Given the description of an element on the screen output the (x, y) to click on. 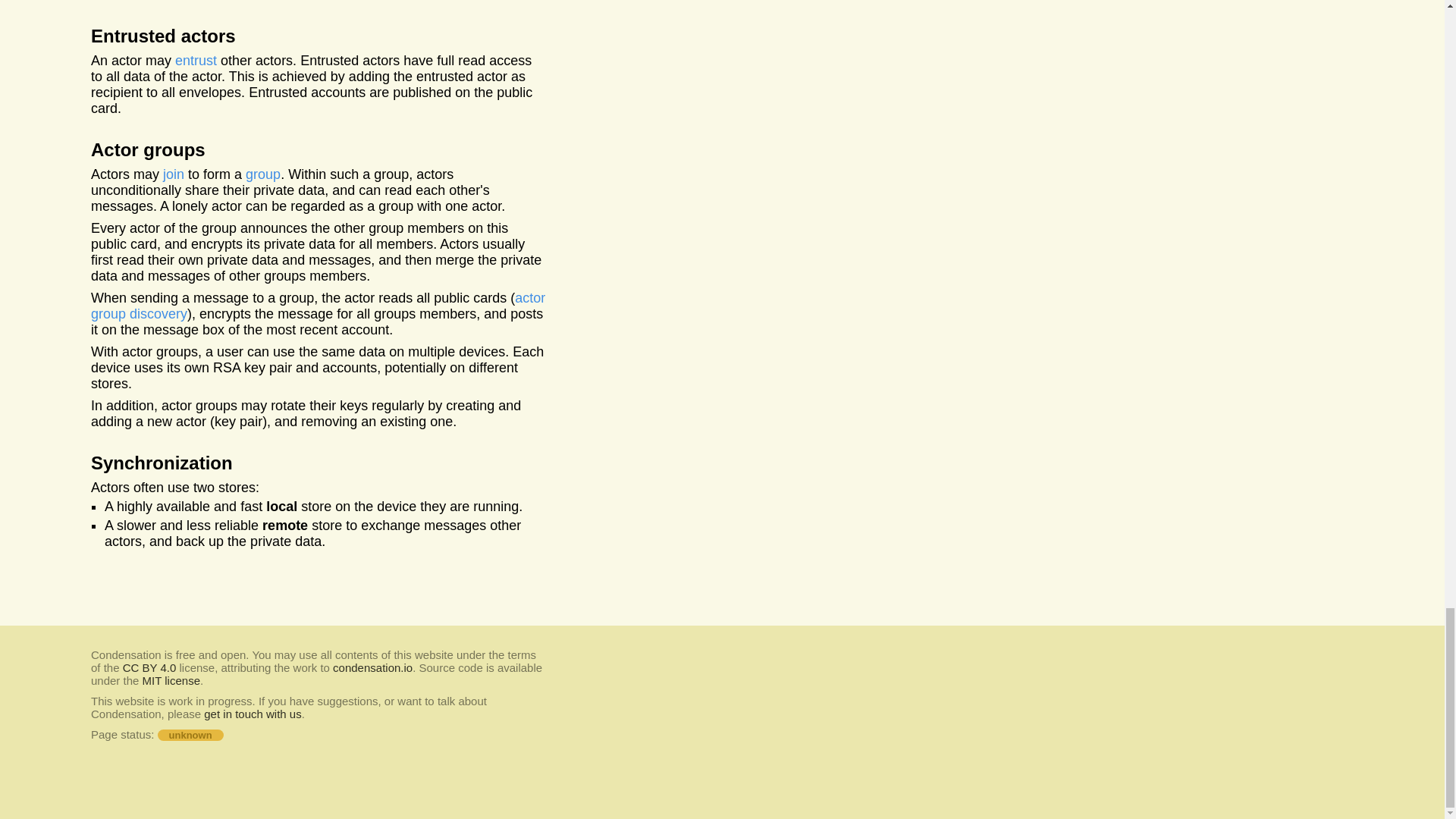
condensation.io (252, 713)
actor group discovery (372, 667)
group (317, 305)
MIT license (263, 174)
entrust (171, 680)
join (195, 60)
CC BY 4.0 (173, 174)
